Given the description of an element on the screen output the (x, y) to click on. 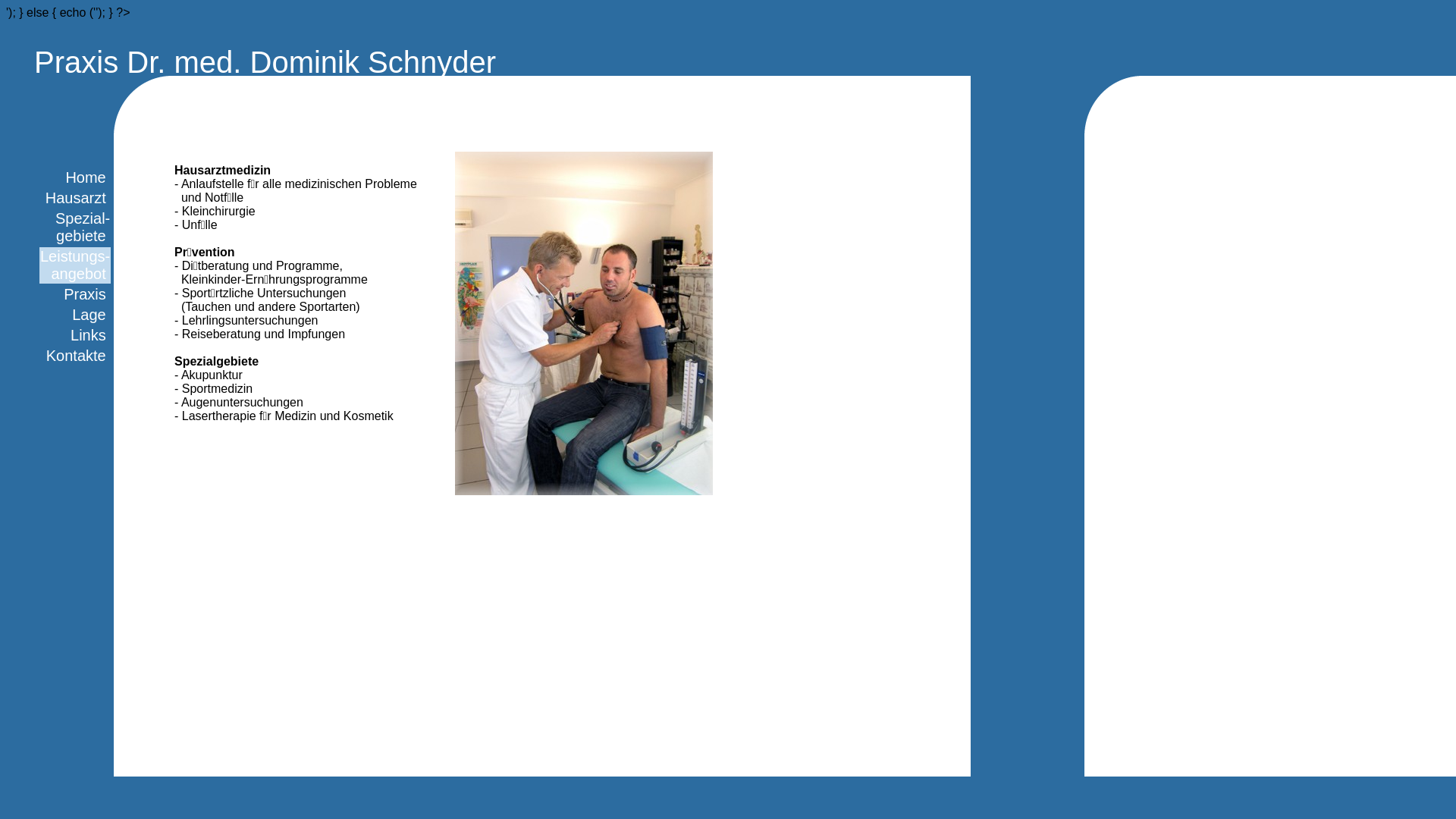
Spezial-
gebiete  Element type: text (82, 227)
Home  Element type: text (87, 177)
Kontakte  Element type: text (78, 355)
Hausarzt  Element type: text (77, 197)
Leistungs-
angebot  Element type: text (74, 264)
Links  Element type: text (89, 334)
Praxis  Element type: text (86, 293)
Lage  Element type: text (90, 314)
